Given the description of an element on the screen output the (x, y) to click on. 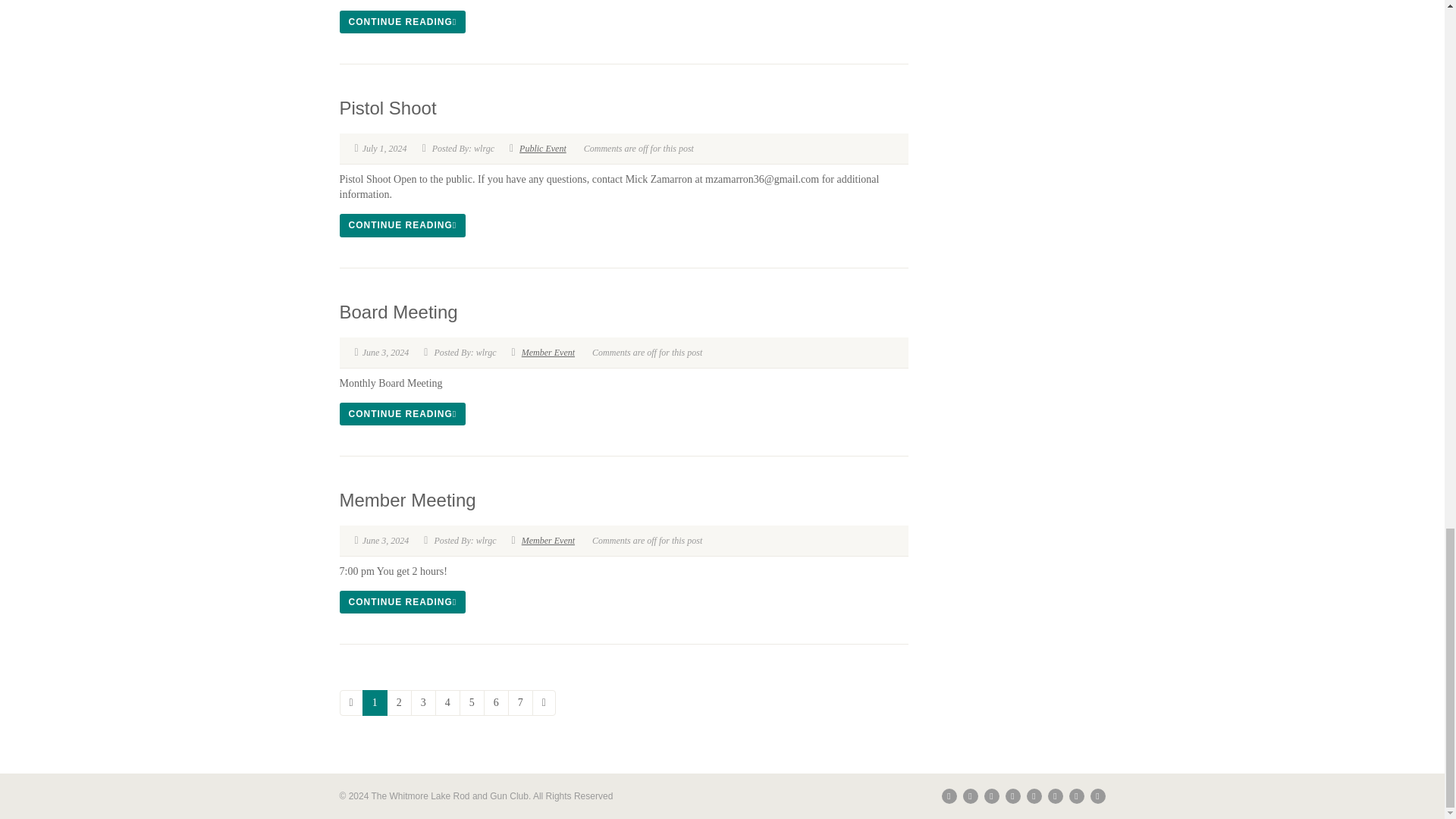
First (350, 702)
Last (544, 702)
